Given the description of an element on the screen output the (x, y) to click on. 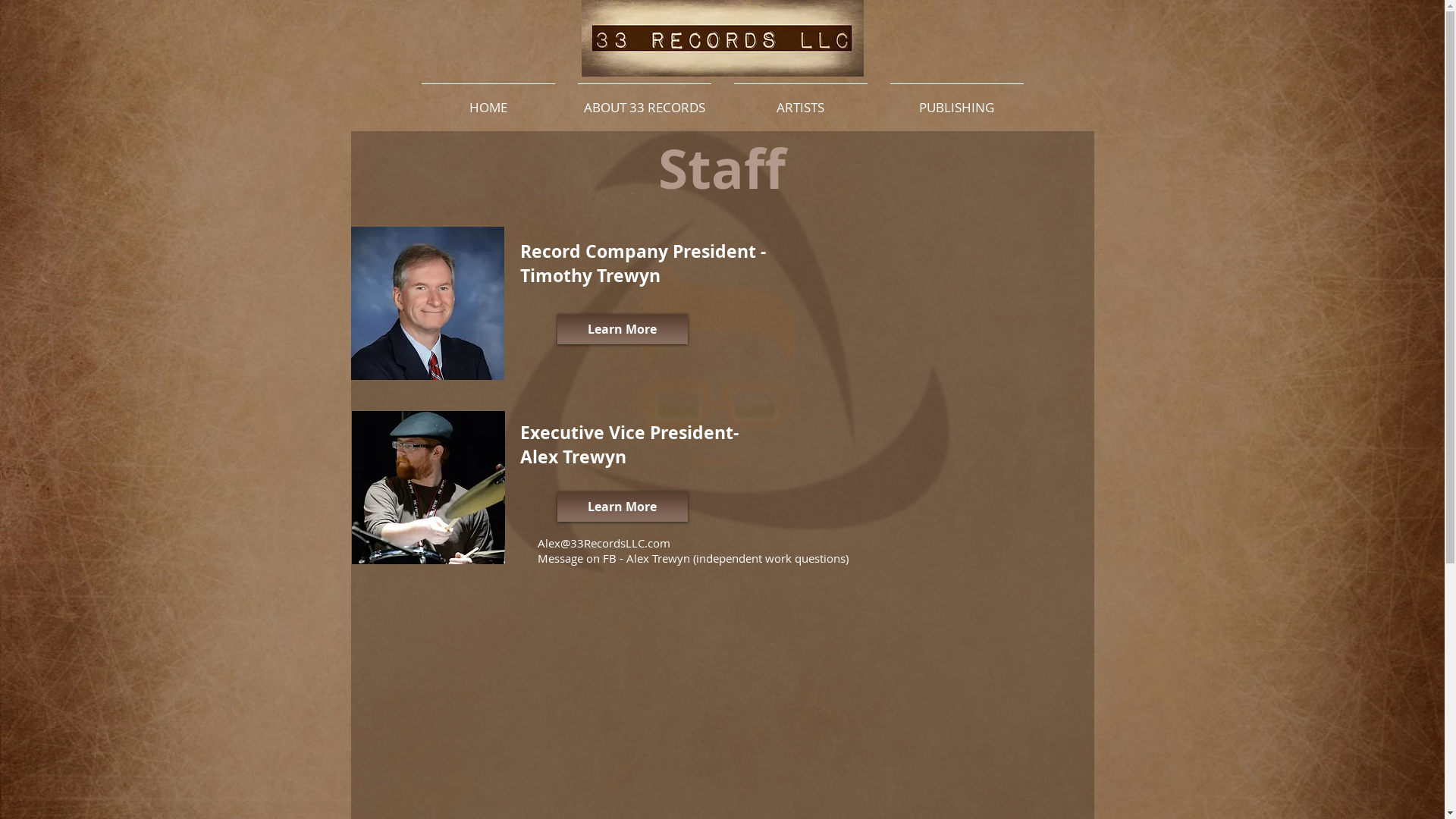
Learn More Element type: text (621, 328)
Learn More Element type: text (621, 506)
HOME Element type: text (487, 100)
Alex@33RecordsLLC.com Element type: text (602, 542)
PUBLISHING Element type: text (956, 100)
ARTISTS Element type: text (799, 100)
